Given the description of an element on the screen output the (x, y) to click on. 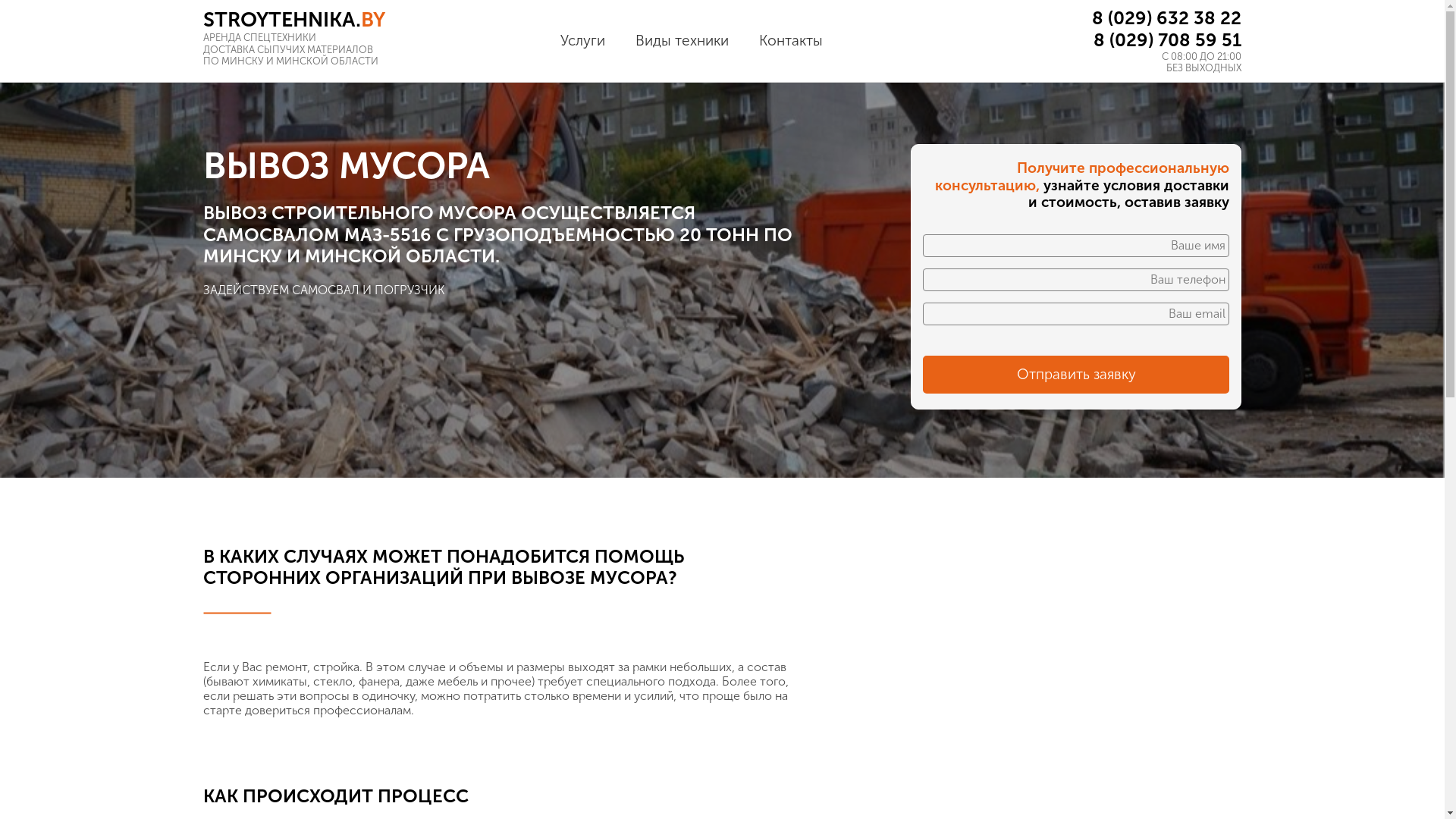
STROYTEHNIKA.BY Element type: text (368, 19)
